Given the description of an element on the screen output the (x, y) to click on. 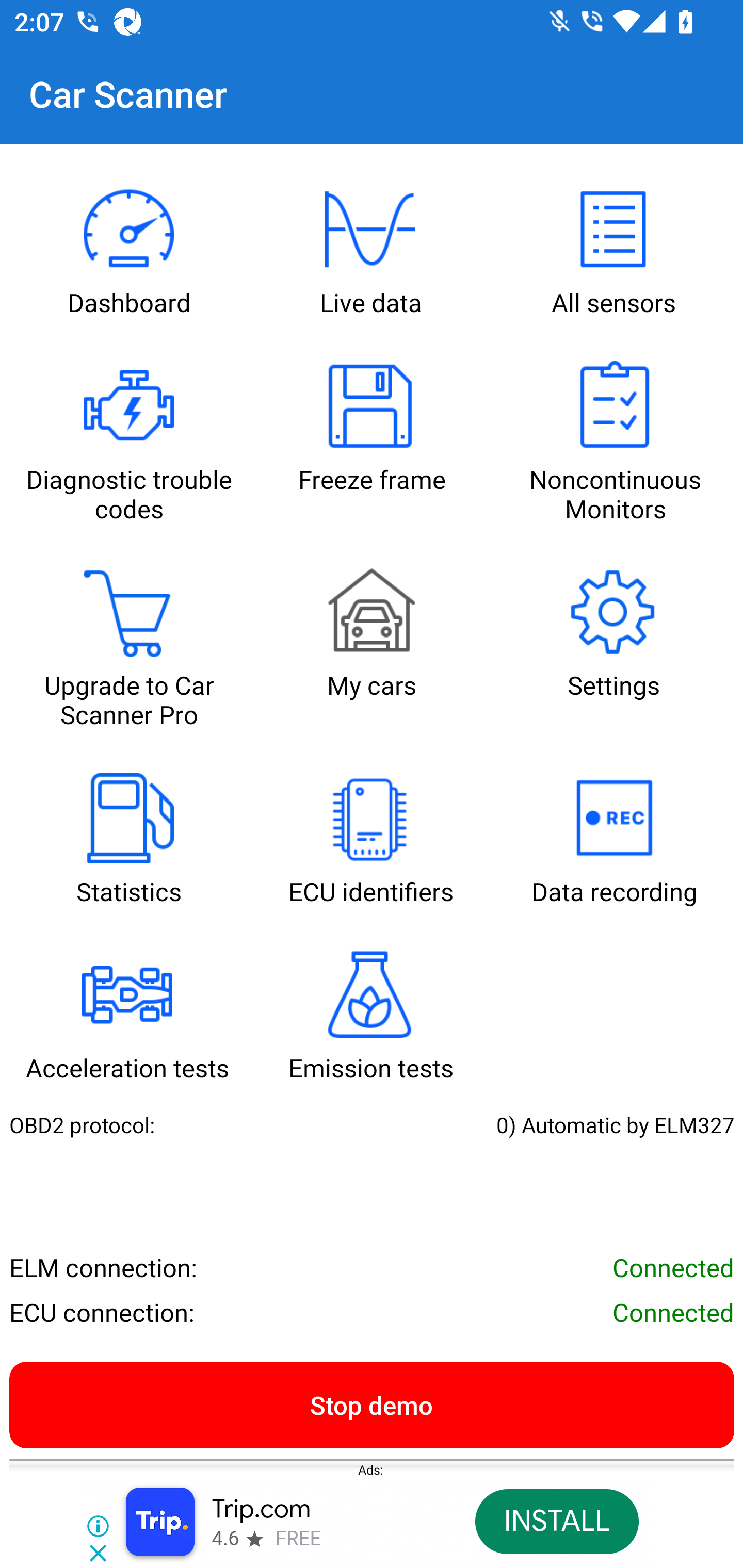
Stop demo (371, 1404)
INSTALL (556, 1521)
Trip.com (260, 1509)
4.6 (224, 1539)
FREE (298, 1539)
